Given the description of an element on the screen output the (x, y) to click on. 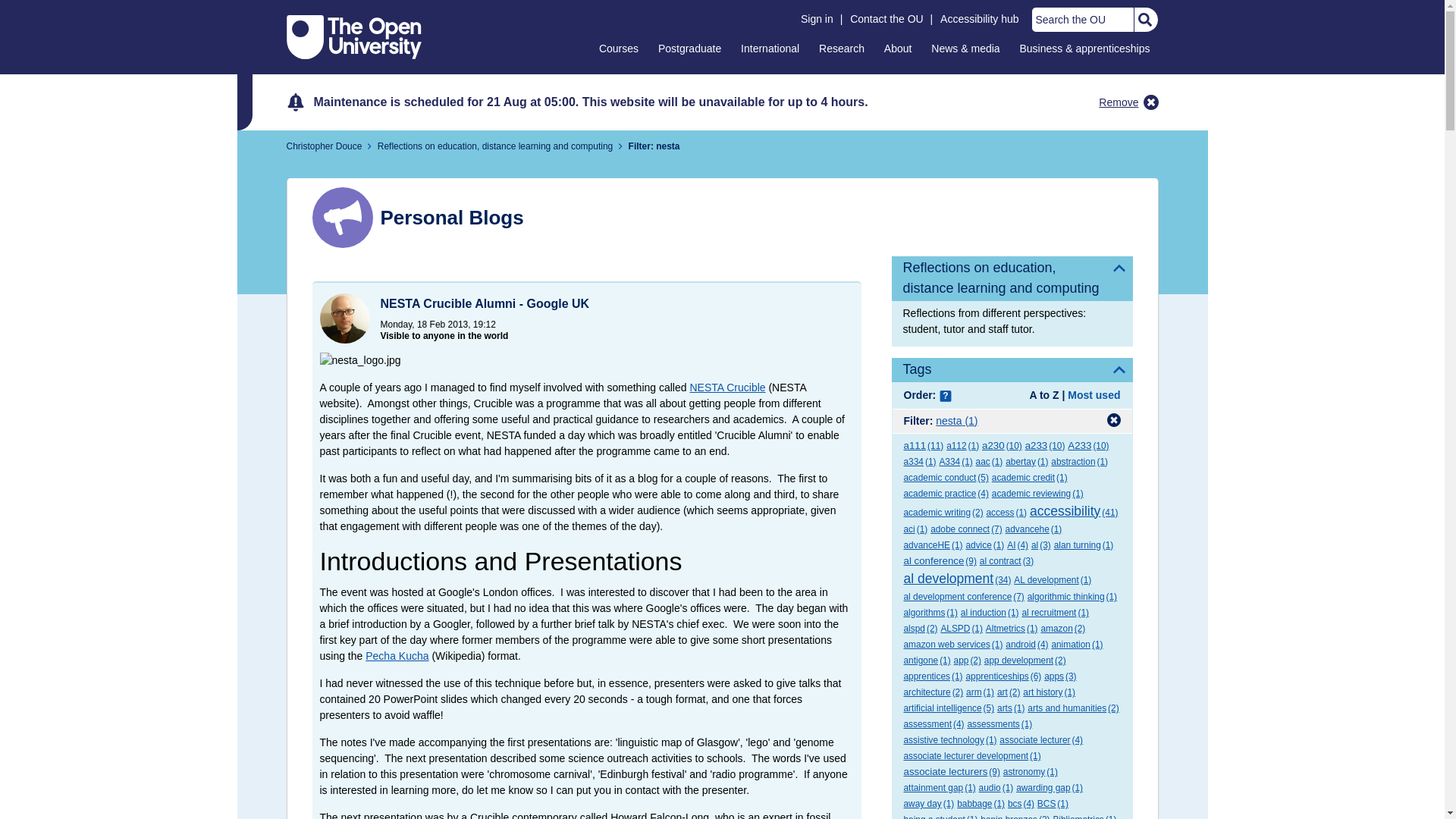
Accessibility hub (979, 19)
About (898, 48)
International (770, 48)
Reflections on education, distance learning and computing (1011, 278)
Research (841, 48)
Help with Order: (945, 396)
The Open University (354, 36)
Postgraduate (689, 48)
Tags (1011, 369)
